Given the description of an element on the screen output the (x, y) to click on. 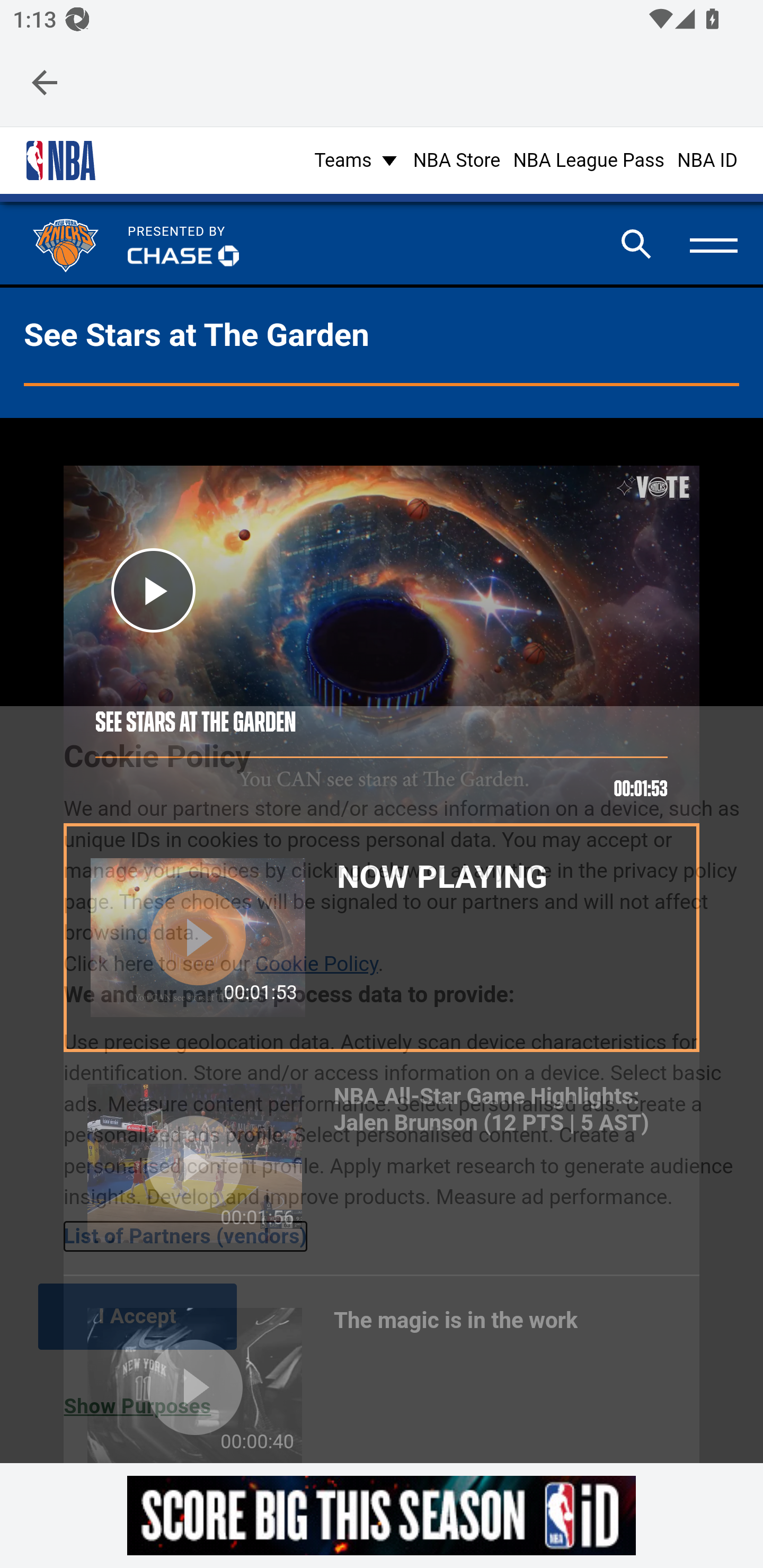
Navigate up (44, 82)
NBA Logo (60, 160)
Toggle Teams (356, 159)
NBA Store NBA Store NBA Store (456, 159)
NBA League Pass NBA League Pass NBA League Pass (588, 159)
NBA ID NBA ID NBA ID (707, 159)
Global Navigation Toggle (713, 243)
PRESENTED BY Chase PRESENTED BY Chase (183, 244)
search-input-toggle (636, 244)
Unable to play media. (381, 643)
Play Video (153, 589)
Select video See Stars at The Garden (381, 936)
Select video The magic is in the work (381, 1368)
